Given the description of an element on the screen output the (x, y) to click on. 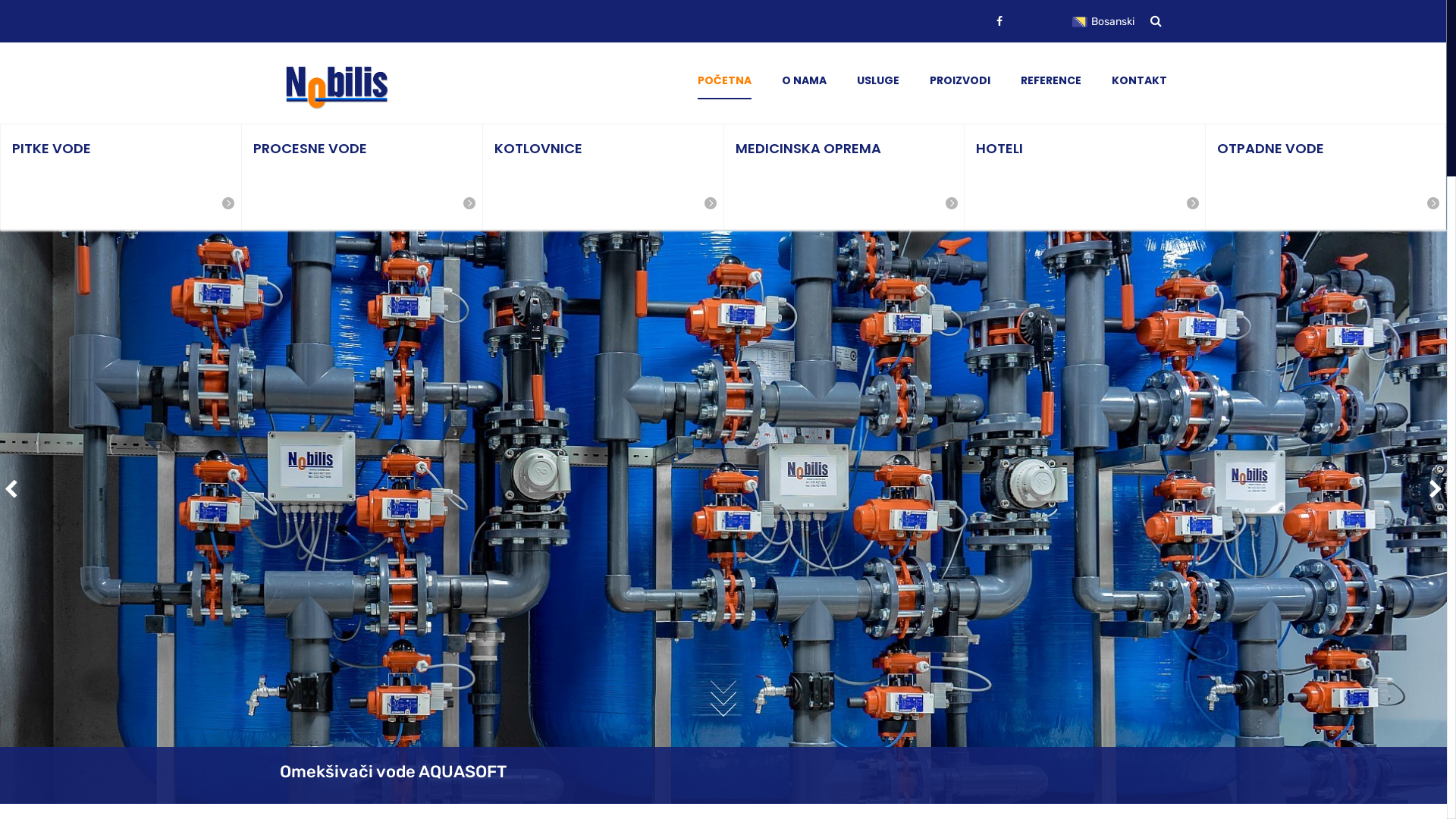
KONTAKT Element type: text (1139, 80)
O NAMA Element type: text (803, 80)
PROIZVODI Element type: text (959, 80)
Bosanski Element type: text (1109, 21)
REFERENCE Element type: text (1050, 80)
USLUGE Element type: text (877, 80)
